Given the description of an element on the screen output the (x, y) to click on. 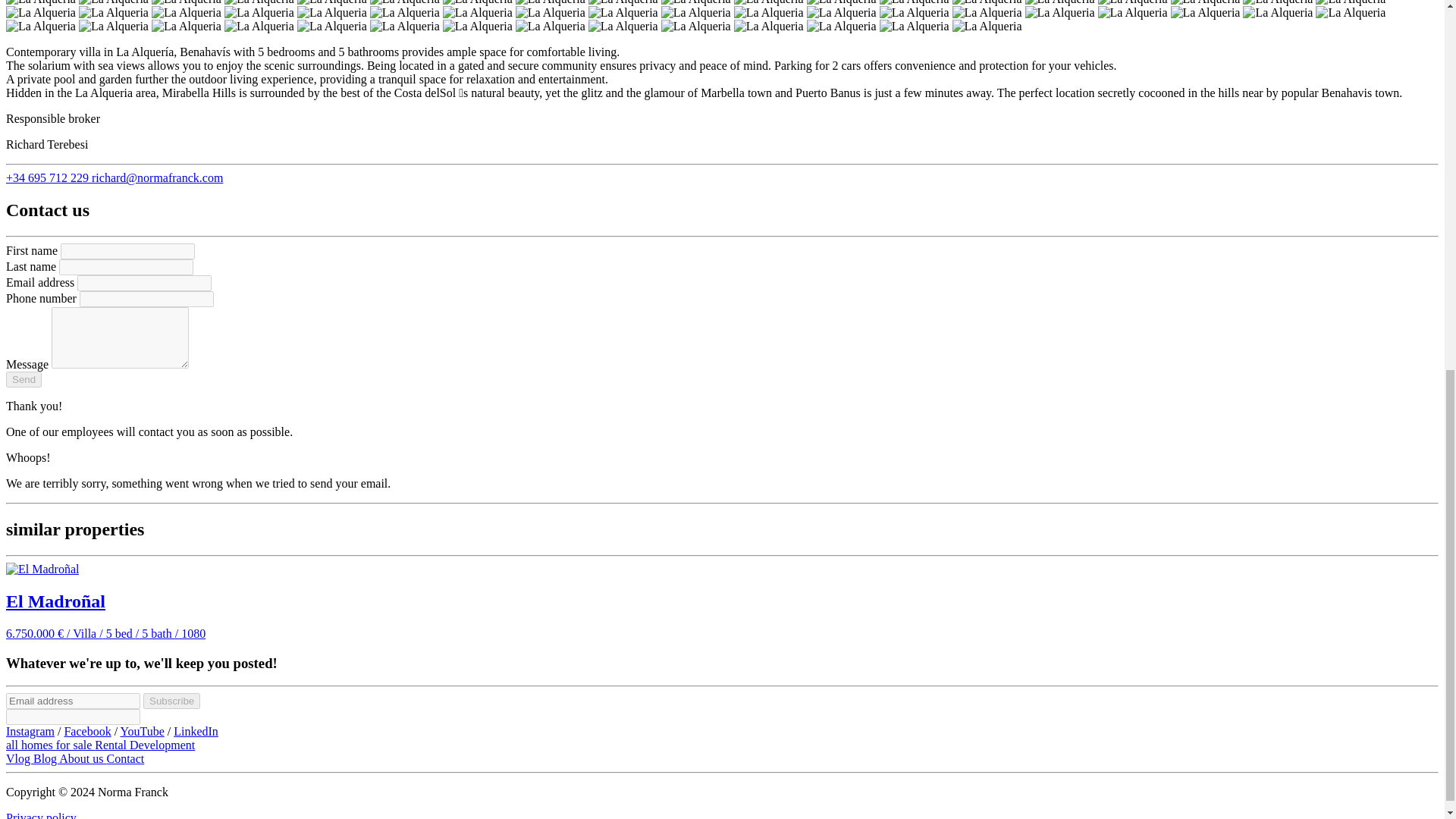
Vlog (19, 758)
Instagram (30, 730)
LinkedIn (195, 730)
Blog (46, 758)
Send (23, 379)
Facebook (87, 730)
all homes for sale (49, 744)
Development (162, 744)
Contact (125, 758)
YouTube (141, 730)
Subscribe (171, 700)
Rental (111, 744)
About us (82, 758)
